Given the description of an element on the screen output the (x, y) to click on. 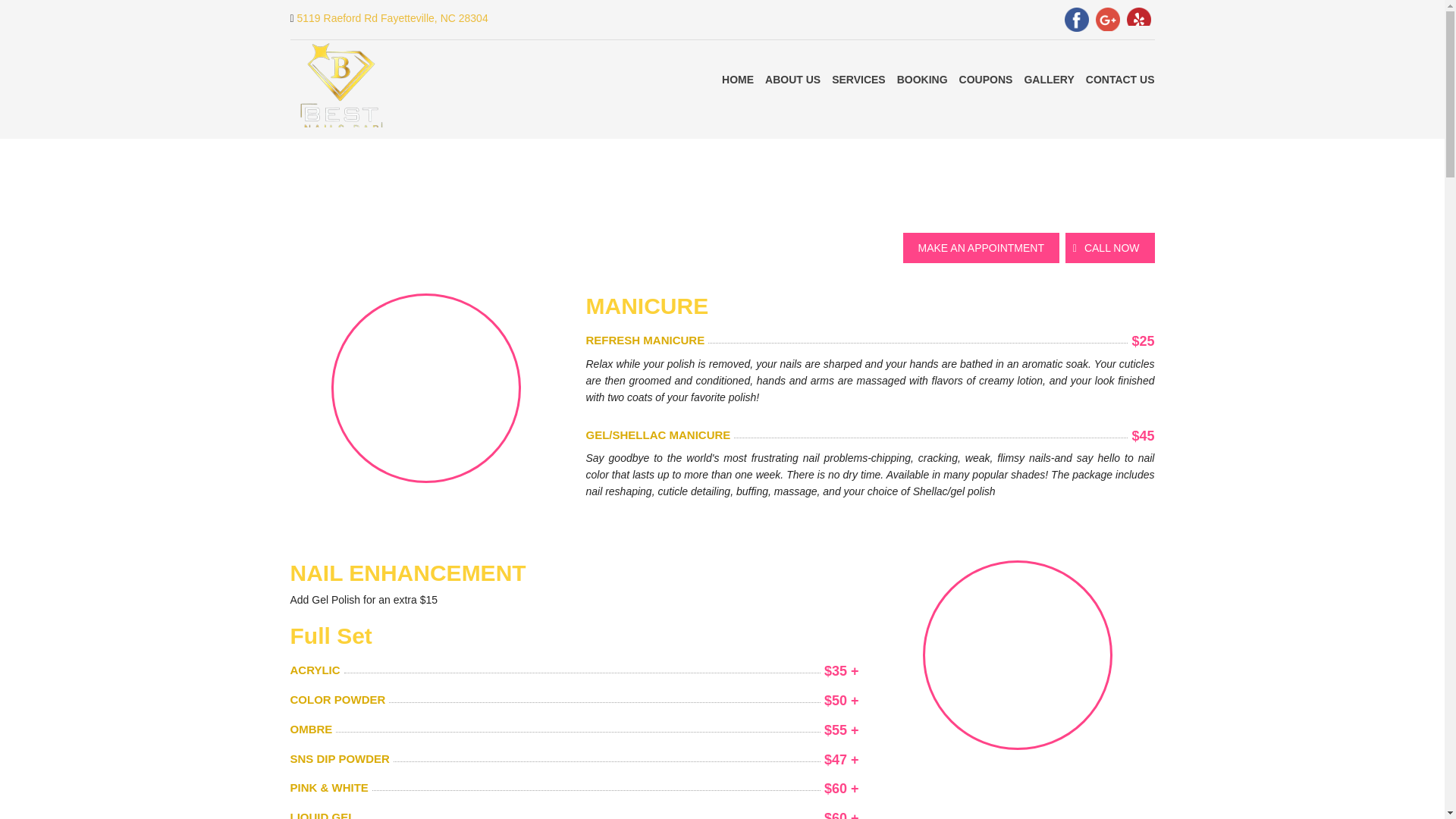
Make an appointment (980, 247)
Best Nails (340, 89)
Call us (1109, 247)
Google plus (1111, 20)
CALL NOW (1109, 247)
Yelp (1140, 20)
MAKE AN APPOINTMENT (980, 247)
Facebook (1080, 20)
